Given the description of an element on the screen output the (x, y) to click on. 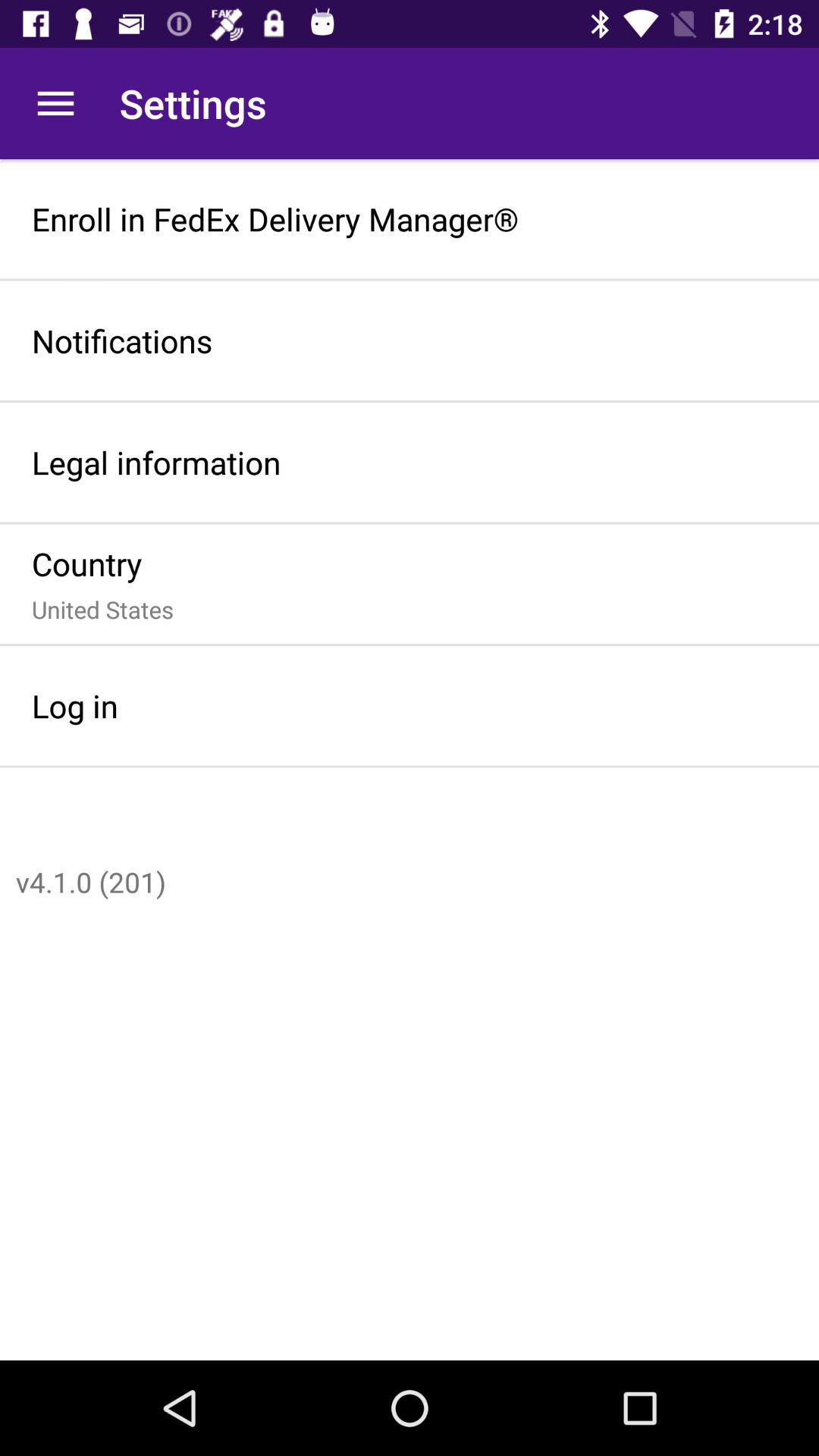
press the icon above enroll in fedex icon (55, 103)
